Given the description of an element on the screen output the (x, y) to click on. 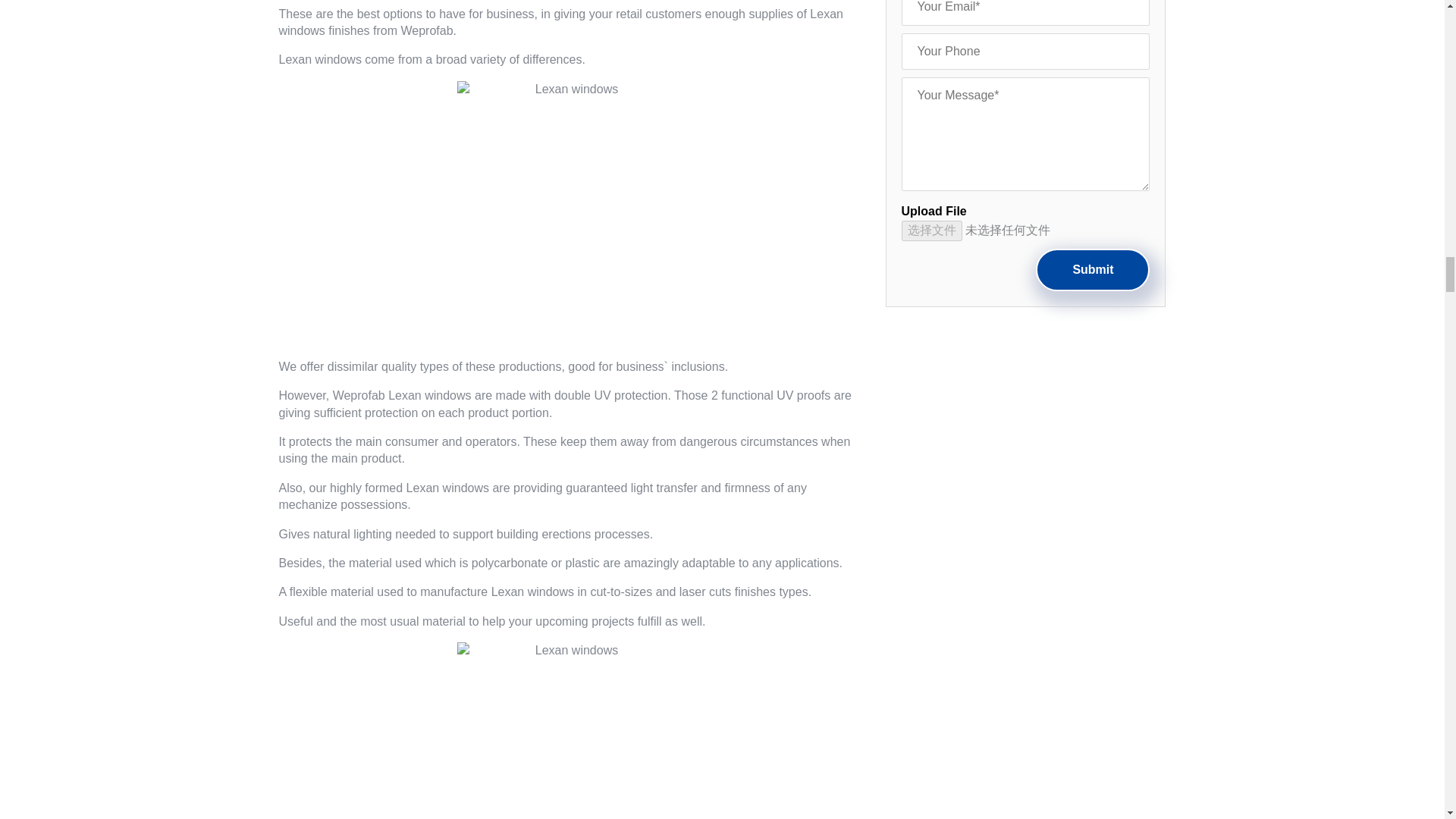
Submit (1092, 269)
